Given the description of an element on the screen output the (x, y) to click on. 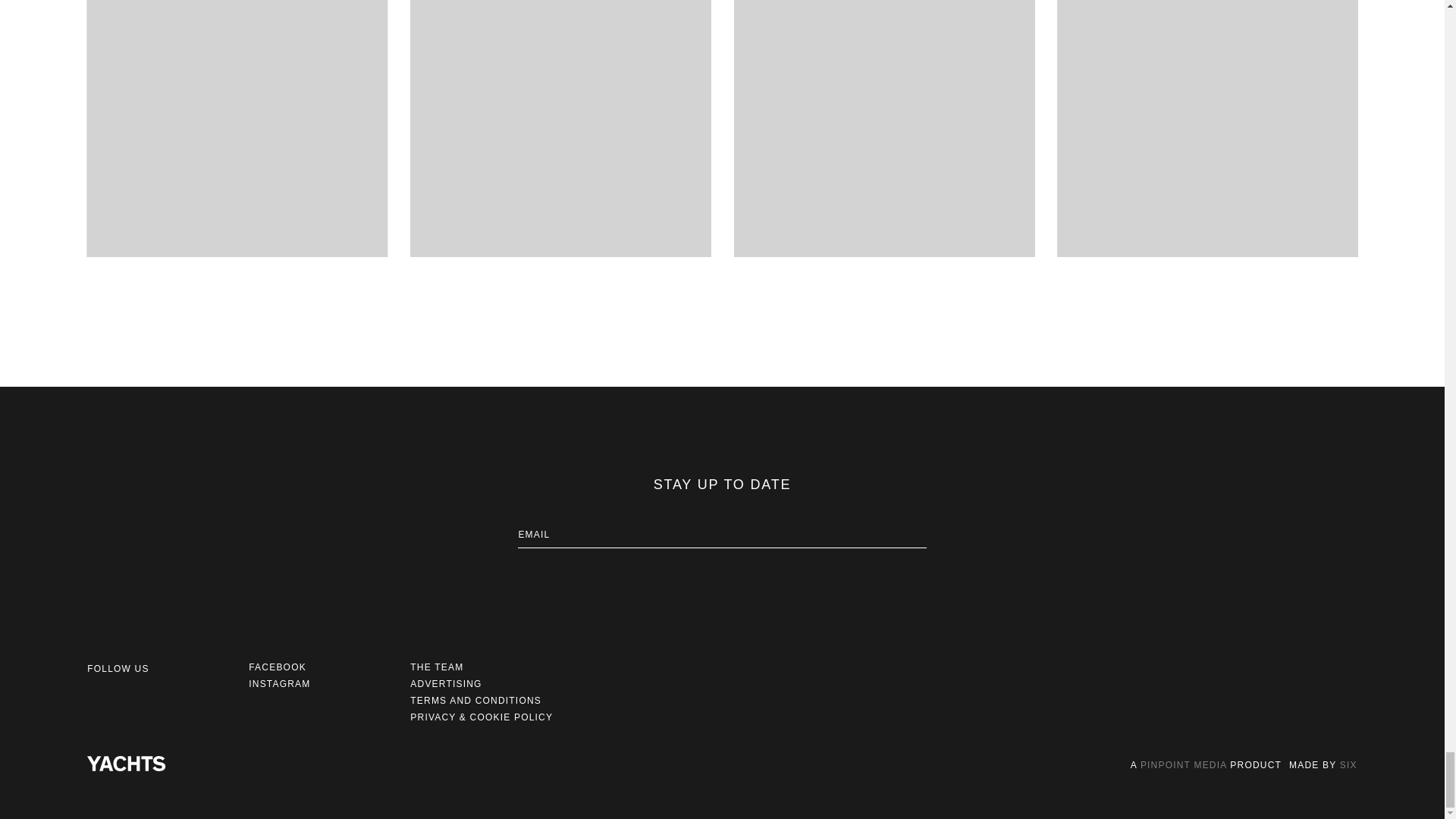
PINPOINT MEDIA (1183, 765)
INSTAGRAM (279, 683)
THE TEAM (436, 666)
FACEBOOK (276, 666)
ADVERTISING (445, 683)
TERMS AND CONDITIONS (475, 700)
